Given the description of an element on the screen output the (x, y) to click on. 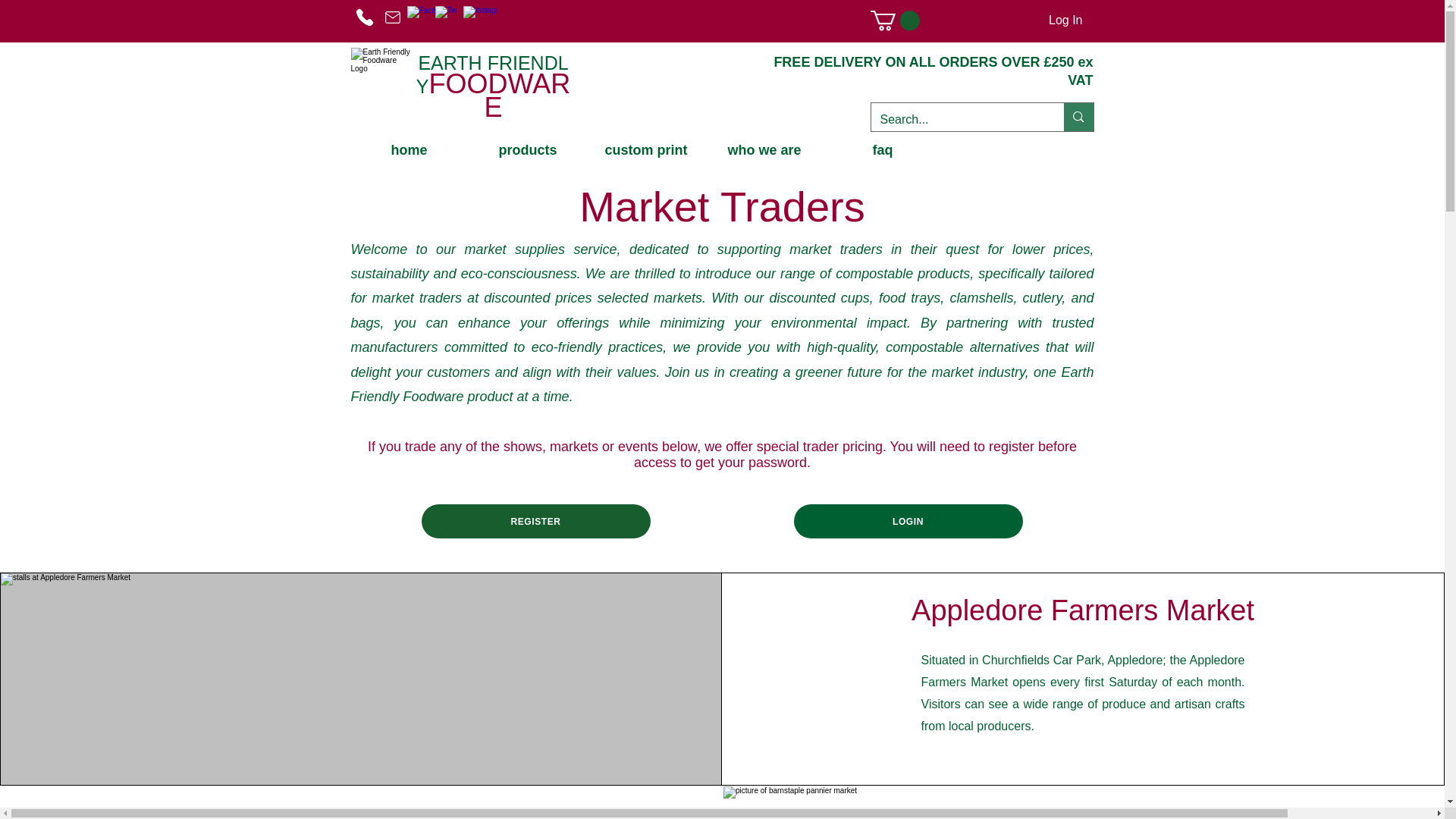
Appledore Farmers Market (1082, 610)
FRIENDLY (492, 75)
custom print (645, 149)
products (527, 149)
who we are (763, 149)
EARTH (449, 62)
faq (882, 149)
FOODWARE (499, 94)
REGISTER (536, 521)
Log In (1065, 20)
LOGIN (907, 521)
home (409, 149)
